Given the description of an element on the screen output the (x, y) to click on. 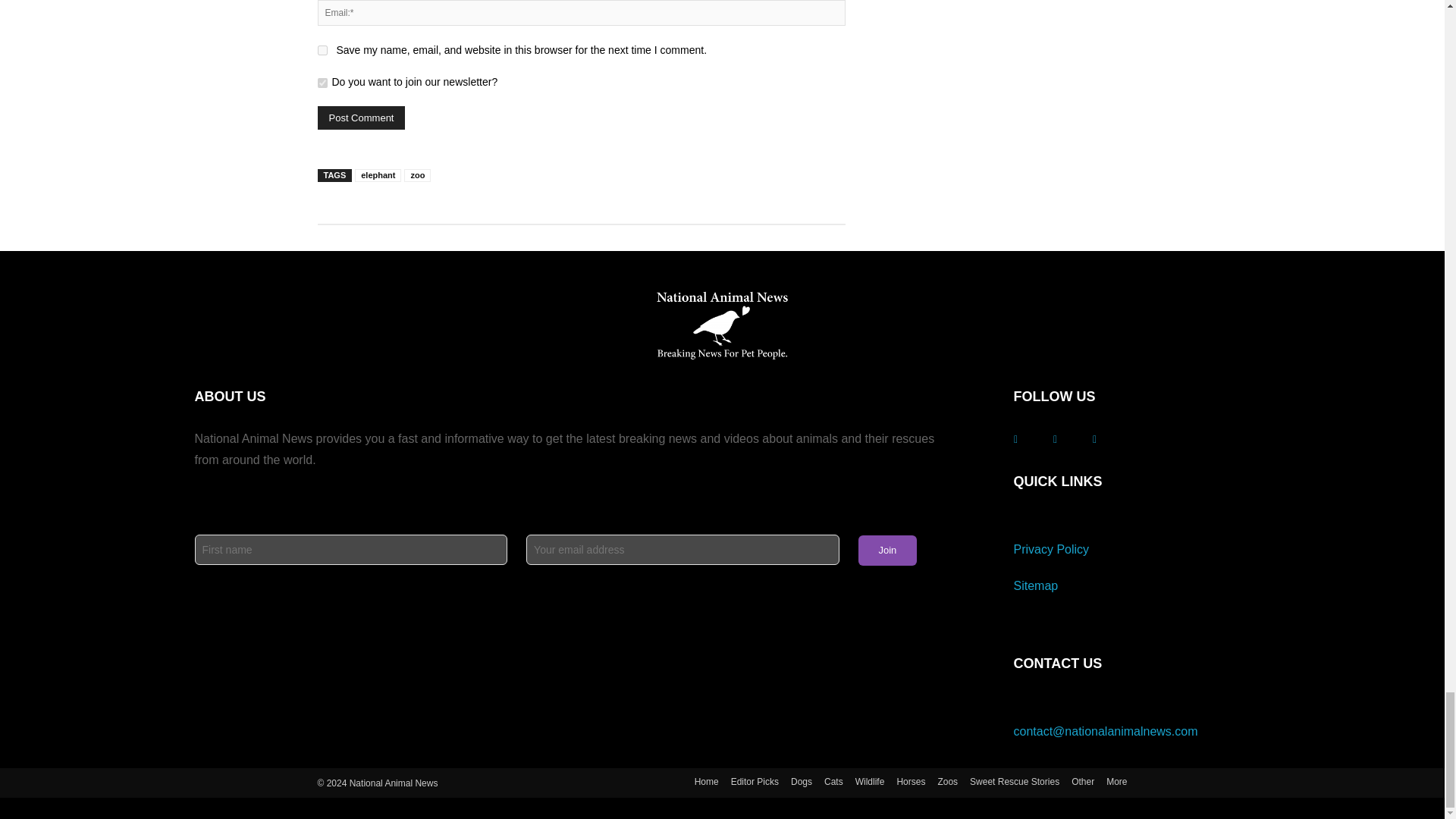
1 (321, 82)
Join (888, 550)
Post Comment (360, 117)
yes (321, 50)
